Given the description of an element on the screen output the (x, y) to click on. 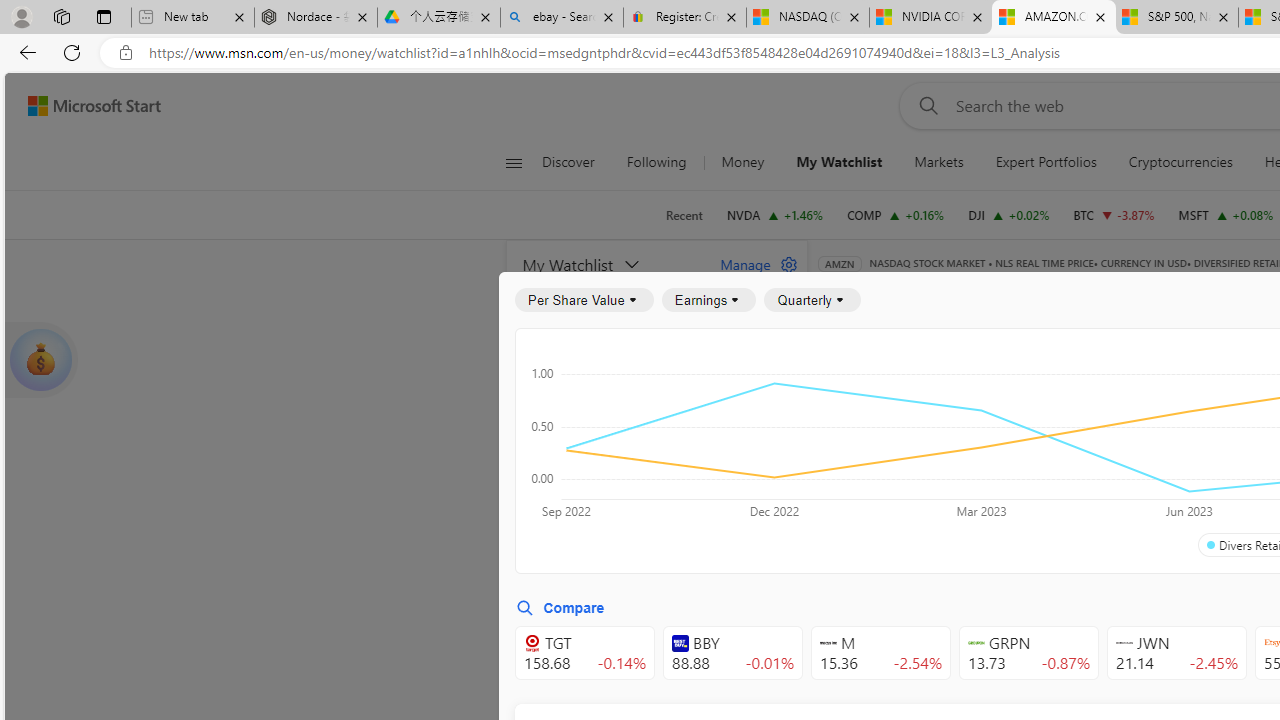
COMP NASDAQ increase 17,754.82 +29.06 +0.16% (895, 214)
Balance Sheet (1079, 391)
Money (742, 162)
Following (656, 162)
My Watchlist (838, 162)
DJI DOW increase 41,250.50 +9.98 +0.02% (1009, 214)
Recent (683, 215)
Class: button-glyph (513, 162)
NVDA NVIDIA CORPORATION increase 128.30 +1.84 +1.46% (774, 214)
Compare (559, 608)
Quarterly (812, 300)
Class: autoSuggestIcon-DS-EntryPoint1-2 (1124, 643)
Annual (865, 503)
